Given the description of an element on the screen output the (x, y) to click on. 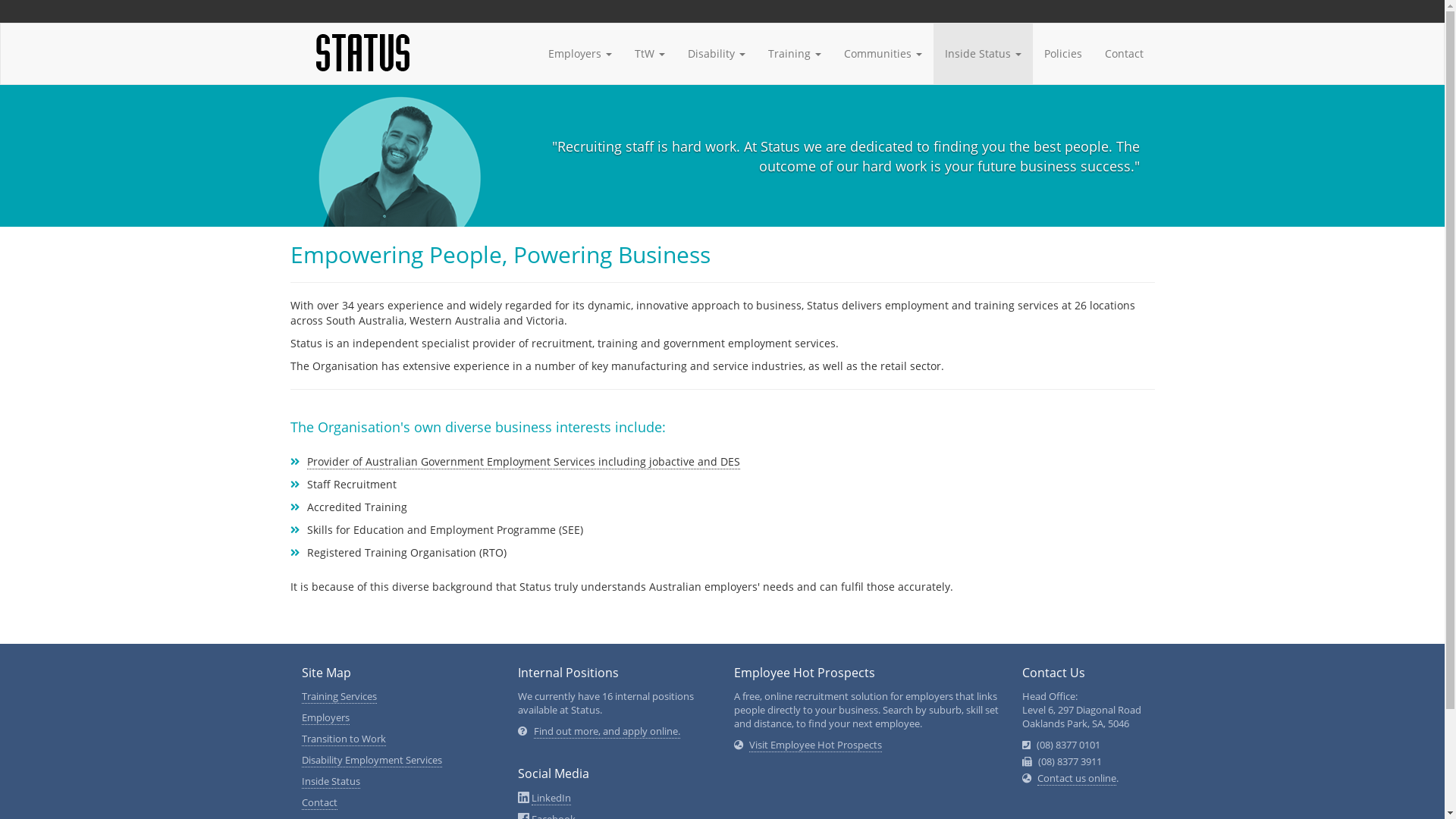
Disability Element type: text (716, 53)
Inside Status Element type: text (982, 53)
LinkedIn Element type: text (550, 798)
Training Element type: text (794, 53)
Communities Element type: text (882, 53)
Transition to Work Element type: text (343, 739)
Policies Element type: text (1062, 53)
Training Services Element type: text (338, 696)
Disability Employment Services Element type: text (371, 760)
Contact us online Element type: text (1076, 778)
Inside Status Element type: text (330, 781)
Employers Element type: text (325, 717)
Find out more, and apply online. Element type: text (606, 731)
TtW Element type: text (649, 53)
Contact Element type: text (1123, 53)
Employers Element type: text (579, 53)
Contact Element type: text (319, 802)
Visit Employee Hot Prospects Element type: text (815, 745)
